Given the description of an element on the screen output the (x, y) to click on. 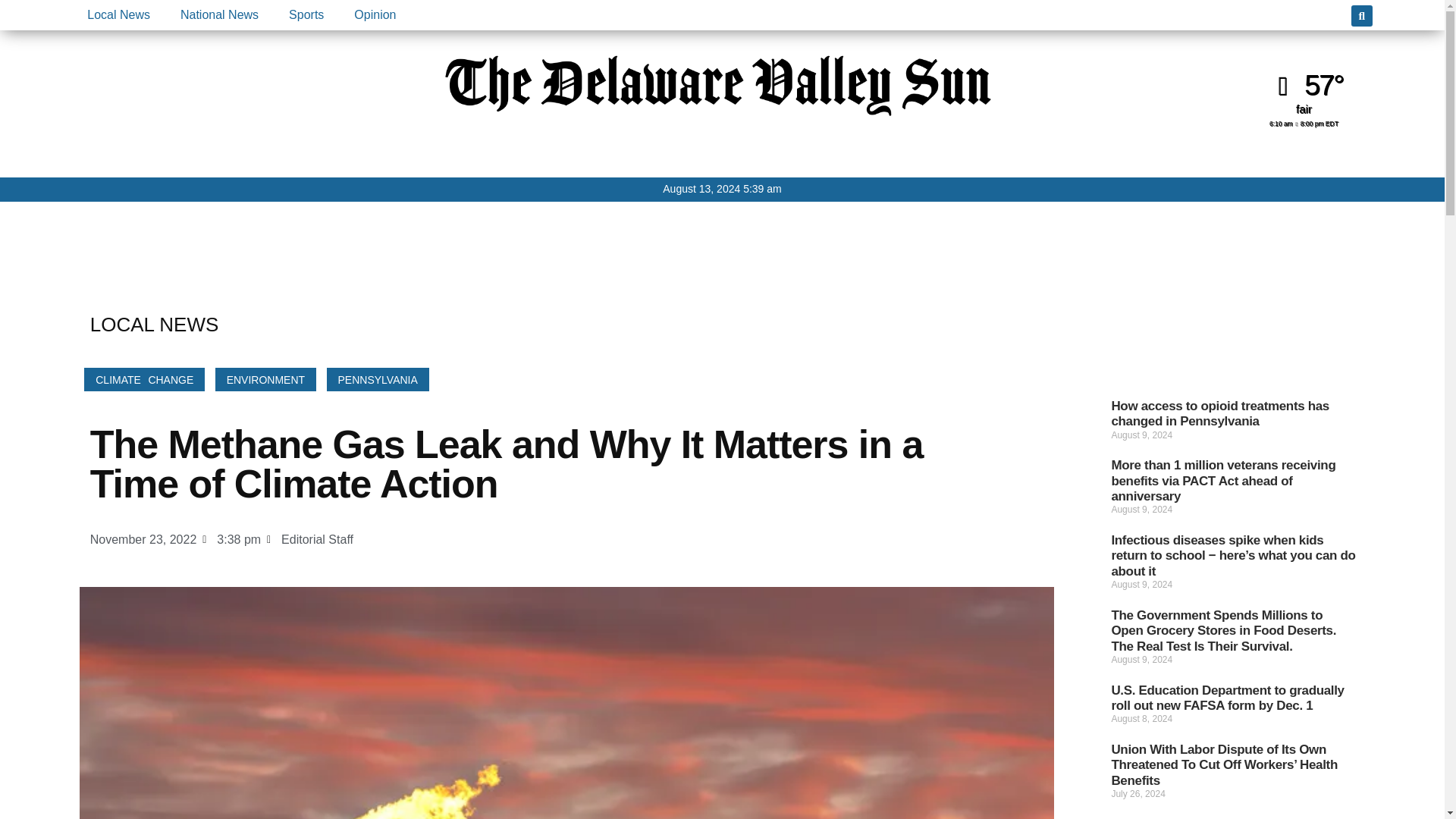
CLIMATE CHANGE (144, 379)
PENNSYLVANIA (377, 379)
ENVIRONMENT (265, 379)
How access to opioid treatments has changed in Pennsylvania (1219, 413)
Local News (118, 14)
Sports (306, 14)
Opinion (374, 14)
